Given the description of an element on the screen output the (x, y) to click on. 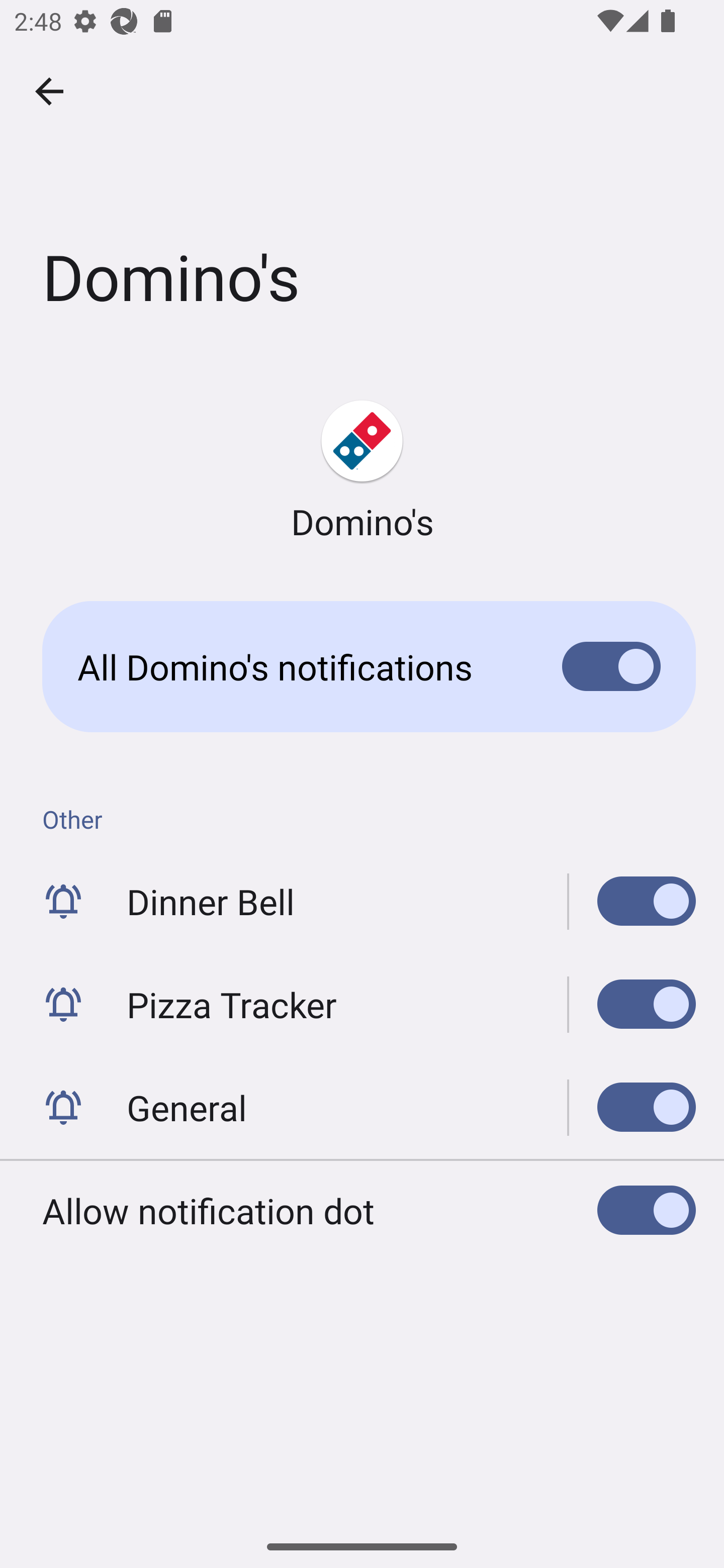
Navigate up (49, 91)
Domino's (361, 471)
All Domino's notifications (362, 666)
Dinner Bell (362, 901)
Dinner Bell (632, 901)
Pizza Tracker (362, 1004)
Pizza Tracker (632, 1004)
General (362, 1106)
General (632, 1106)
Allow notification dot (362, 1210)
